Given the description of an element on the screen output the (x, y) to click on. 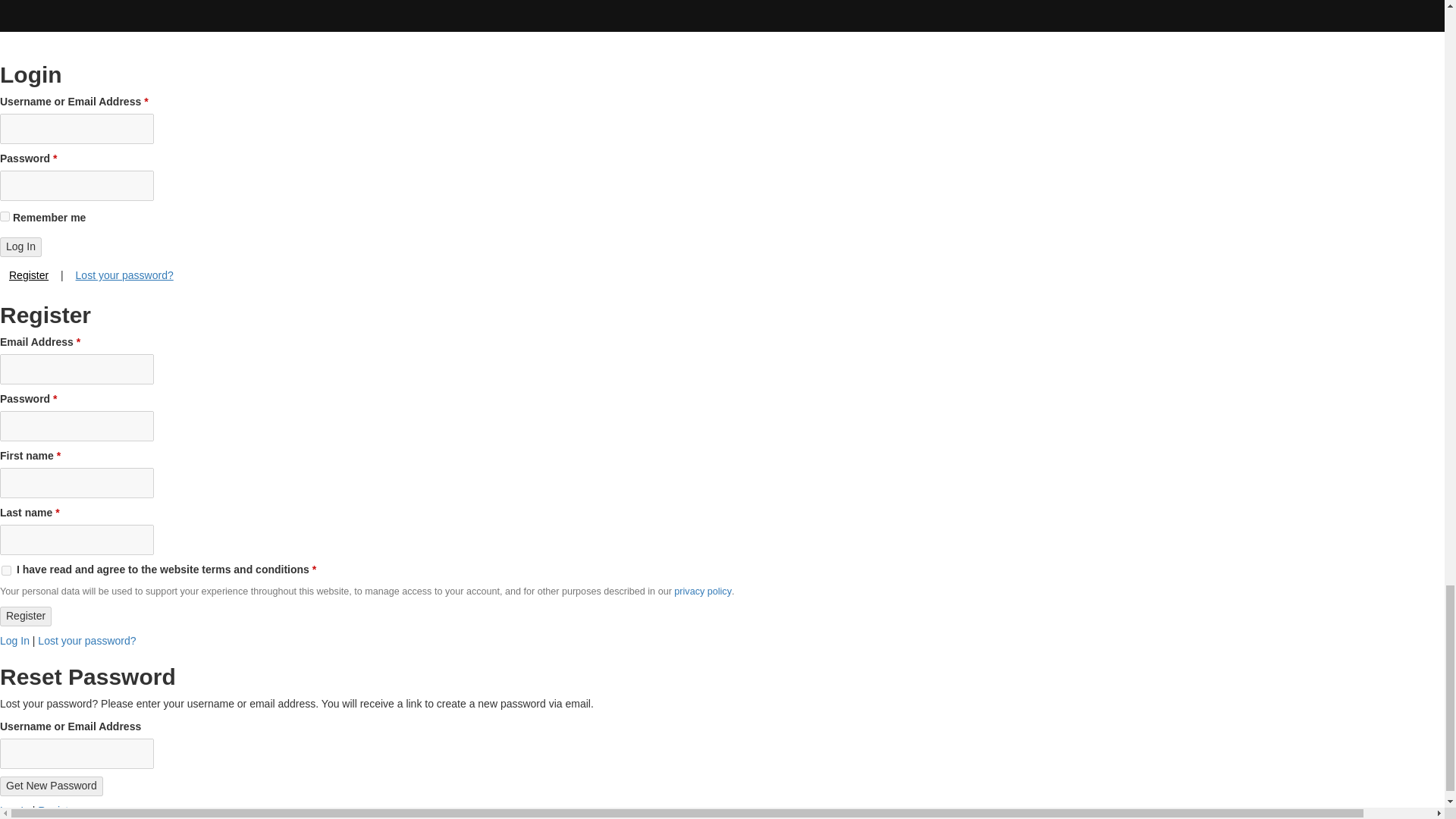
Register (25, 616)
1 (6, 570)
forever (5, 216)
Log In (21, 247)
Get New Password (51, 786)
